Given the description of an element on the screen output the (x, y) to click on. 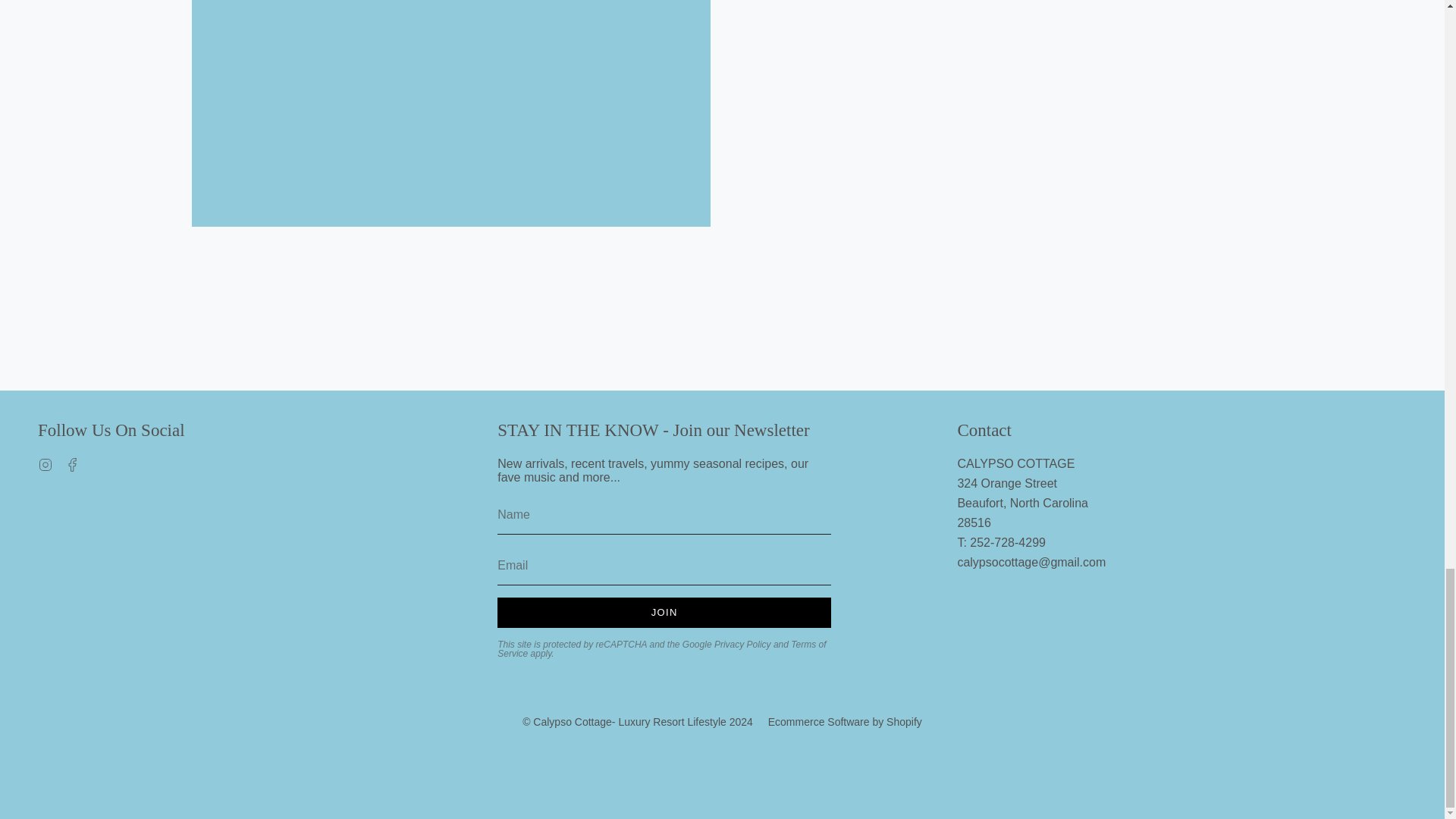
Calypso Cottage- Luxury Resort Lifestyle  on Facebook (72, 463)
Calypso Cottage- Luxury Resort Lifestyle  on Instagram (44, 463)
